Given the description of an element on the screen output the (x, y) to click on. 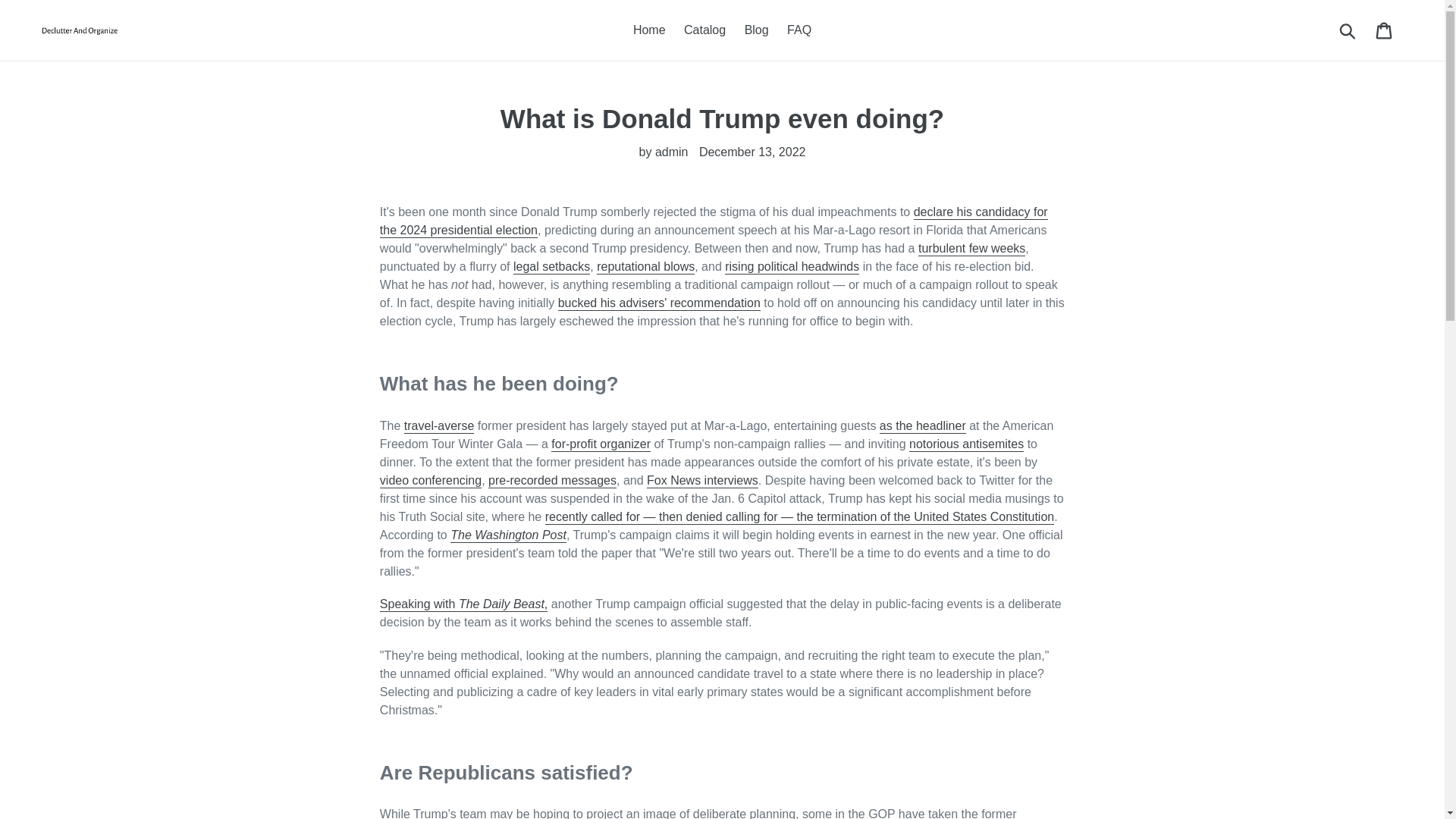
notorious antisemites (965, 444)
turbulent few weeks (971, 248)
Fox News interviews (702, 481)
reputational blows (645, 267)
as the headliner (922, 426)
travel-averse (439, 426)
Catalog (705, 29)
video conferencing (430, 481)
for-profit organizer (600, 444)
Blog (756, 29)
Home (649, 29)
The Washington Post (507, 535)
rising political headwinds (792, 267)
Submit (1348, 29)
bucked his advisers' recommendation (658, 303)
